Given the description of an element on the screen output the (x, y) to click on. 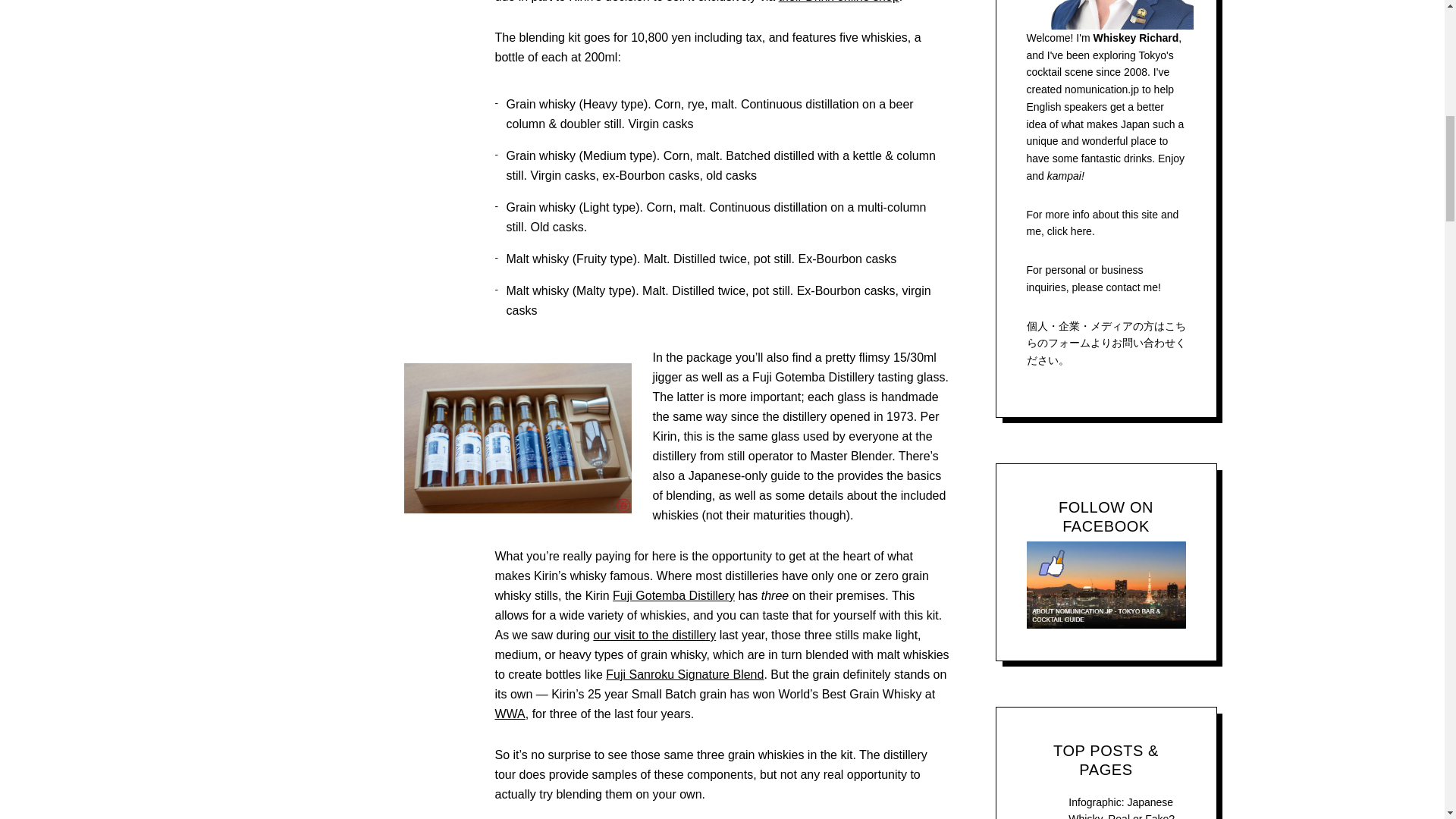
Infographic: Japanese Whisky, Real or Fake? (1121, 807)
